Given the description of an element on the screen output the (x, y) to click on. 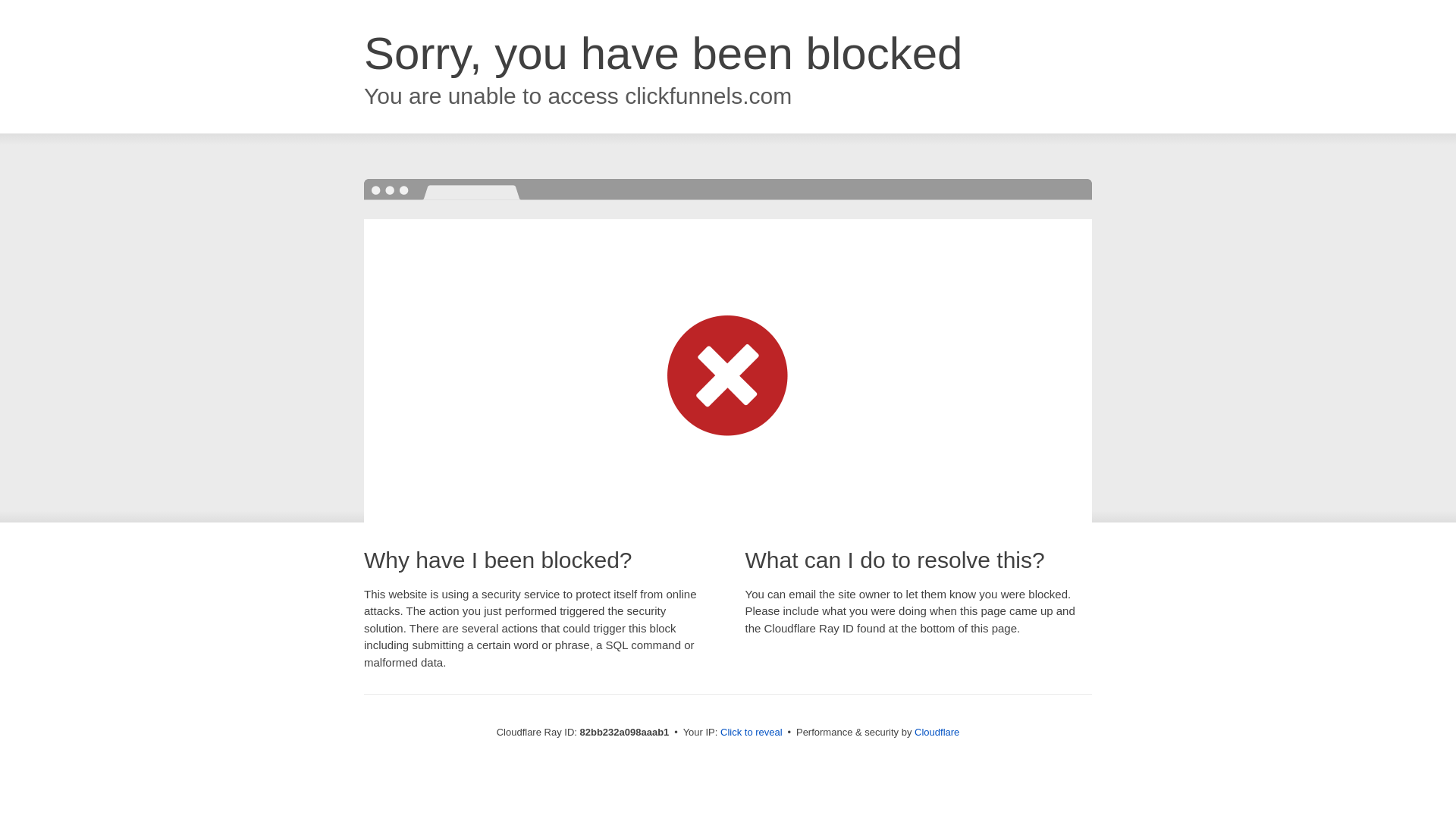
Cloudflare Element type: text (936, 731)
Click to reveal Element type: text (751, 732)
